Given the description of an element on the screen output the (x, y) to click on. 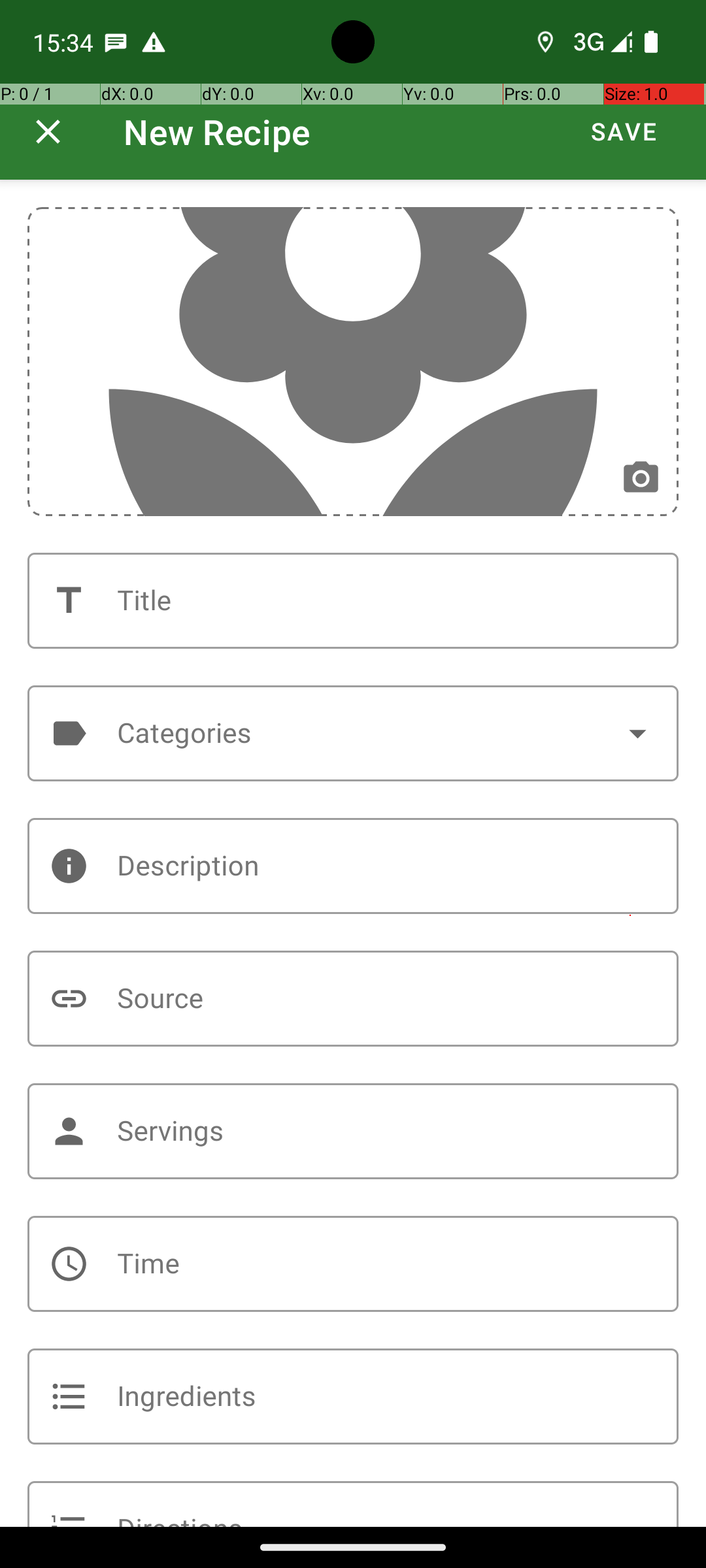
Title Element type: android.widget.EditText (352, 600)
